Given the description of an element on the screen output the (x, y) to click on. 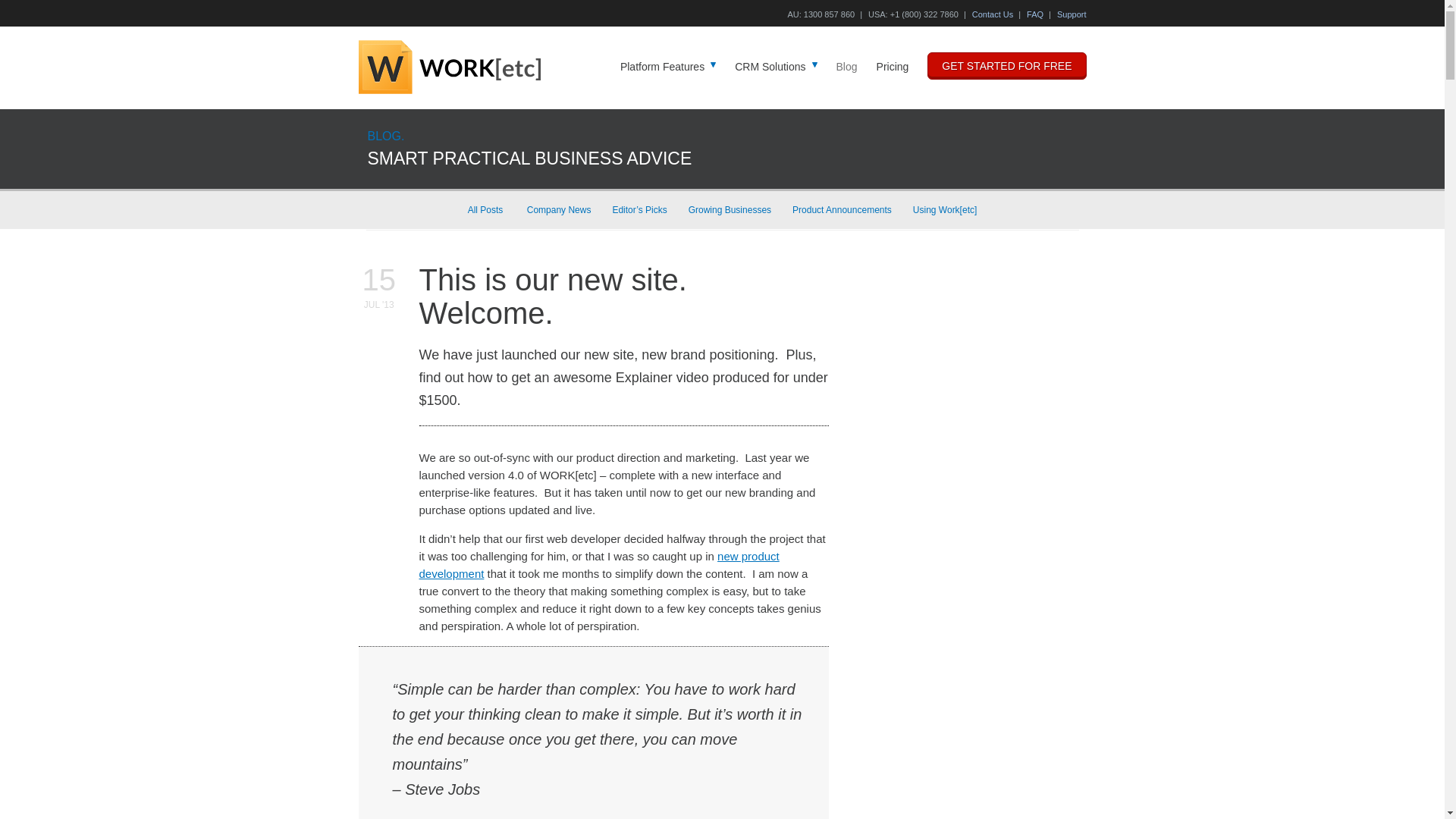
GET STARTED FOR FREE (1006, 65)
Platform Features (668, 66)
CRM Solutions (775, 66)
Contact Us (992, 13)
Blog (846, 66)
FAQ (1034, 13)
Support (1071, 13)
Pricing (892, 66)
